Given the description of an element on the screen output the (x, y) to click on. 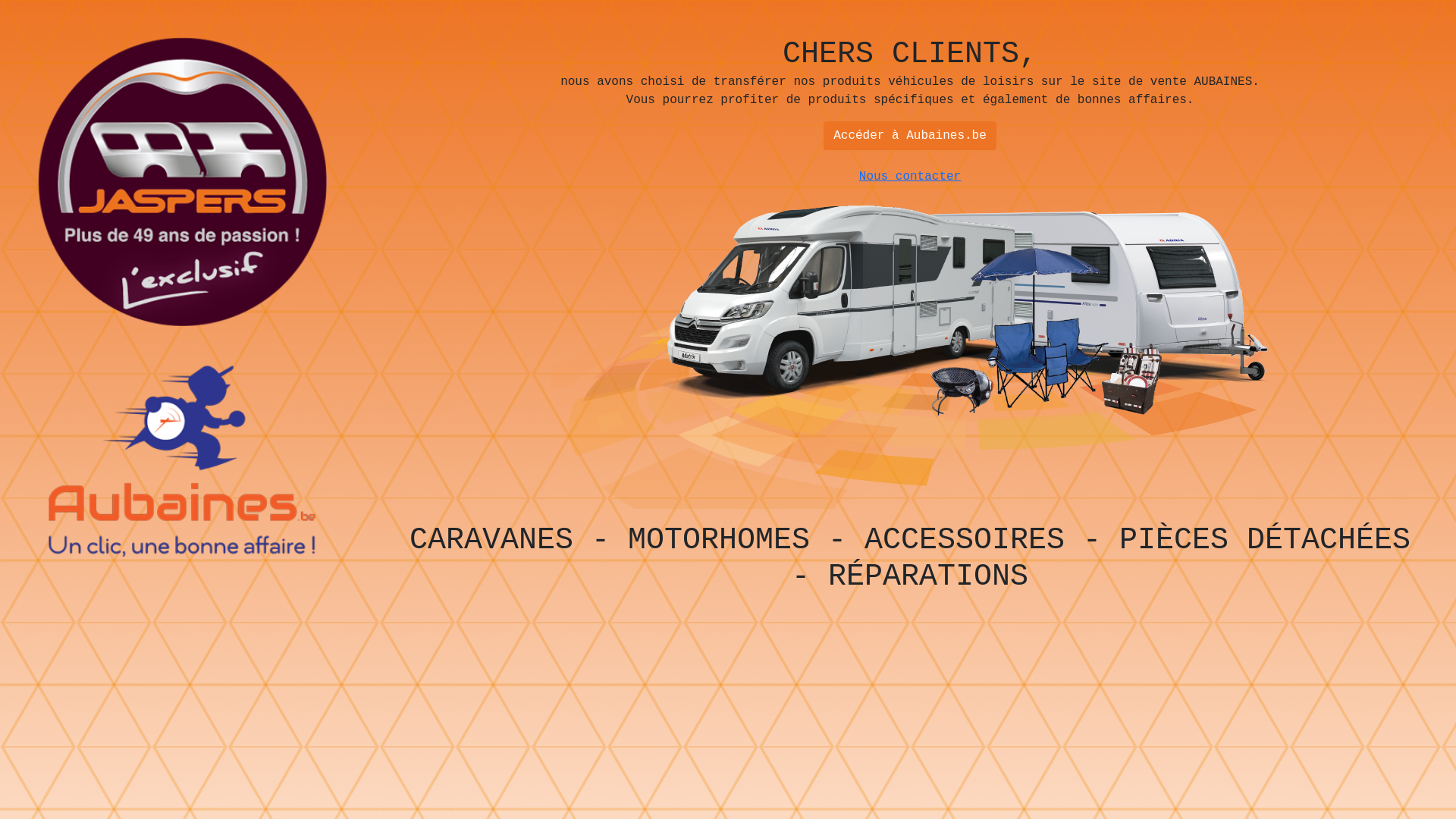
Nous contacter Element type: text (909, 176)
